Given the description of an element on the screen output the (x, y) to click on. 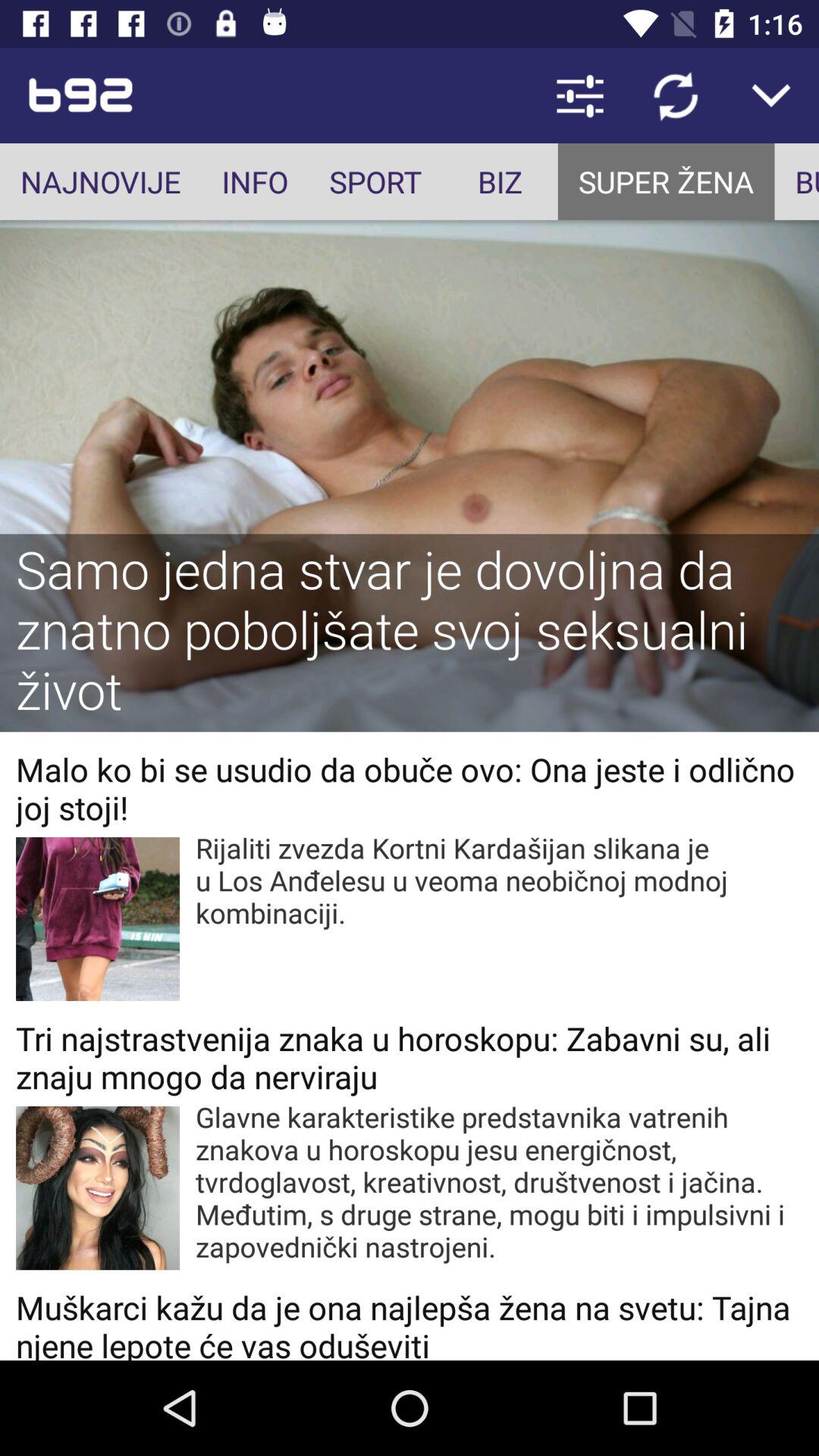
turn on icon to the right of the   biz (665, 181)
